Given the description of an element on the screen output the (x, y) to click on. 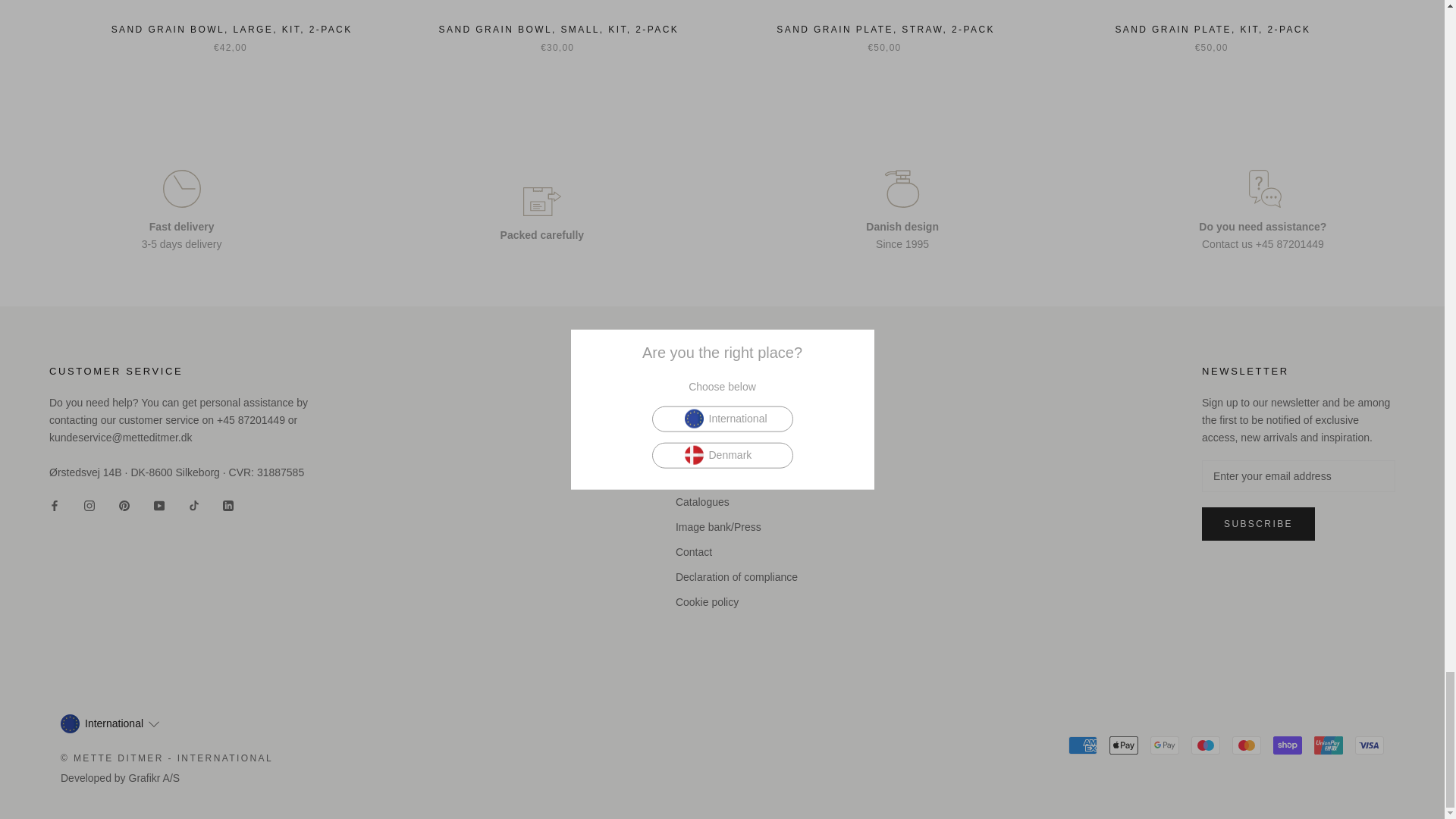
Visa (1369, 745)
Union Pay (1328, 745)
Maestro (1205, 745)
American Express (1082, 745)
Google Pay (1164, 745)
Mastercard (1245, 745)
Apple Pay (1123, 745)
Shop Pay (1286, 745)
